Given the description of an element on the screen output the (x, y) to click on. 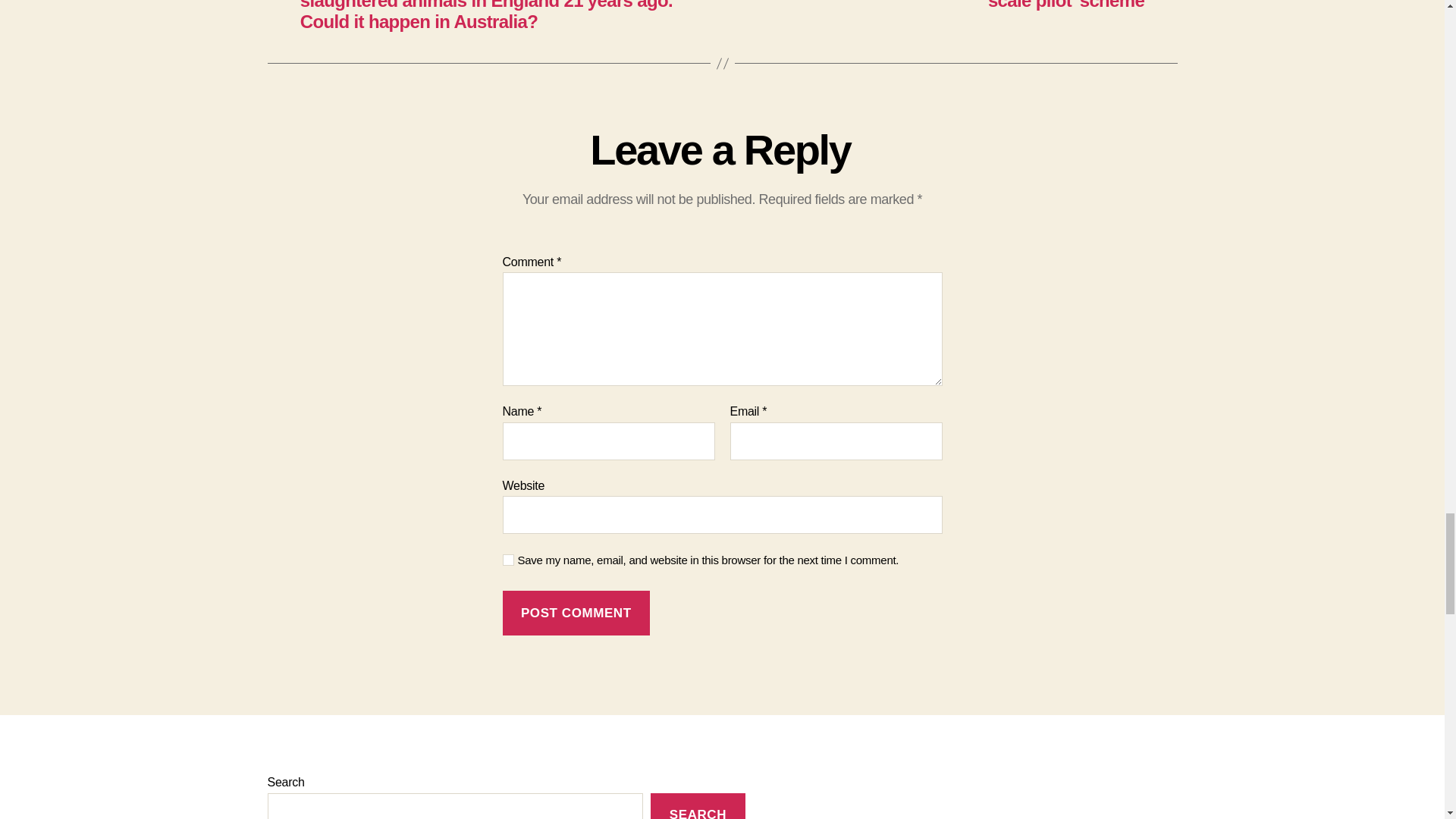
Post Comment (575, 612)
SEARCH (697, 806)
yes (507, 559)
Post Comment (575, 612)
